Given the description of an element on the screen output the (x, y) to click on. 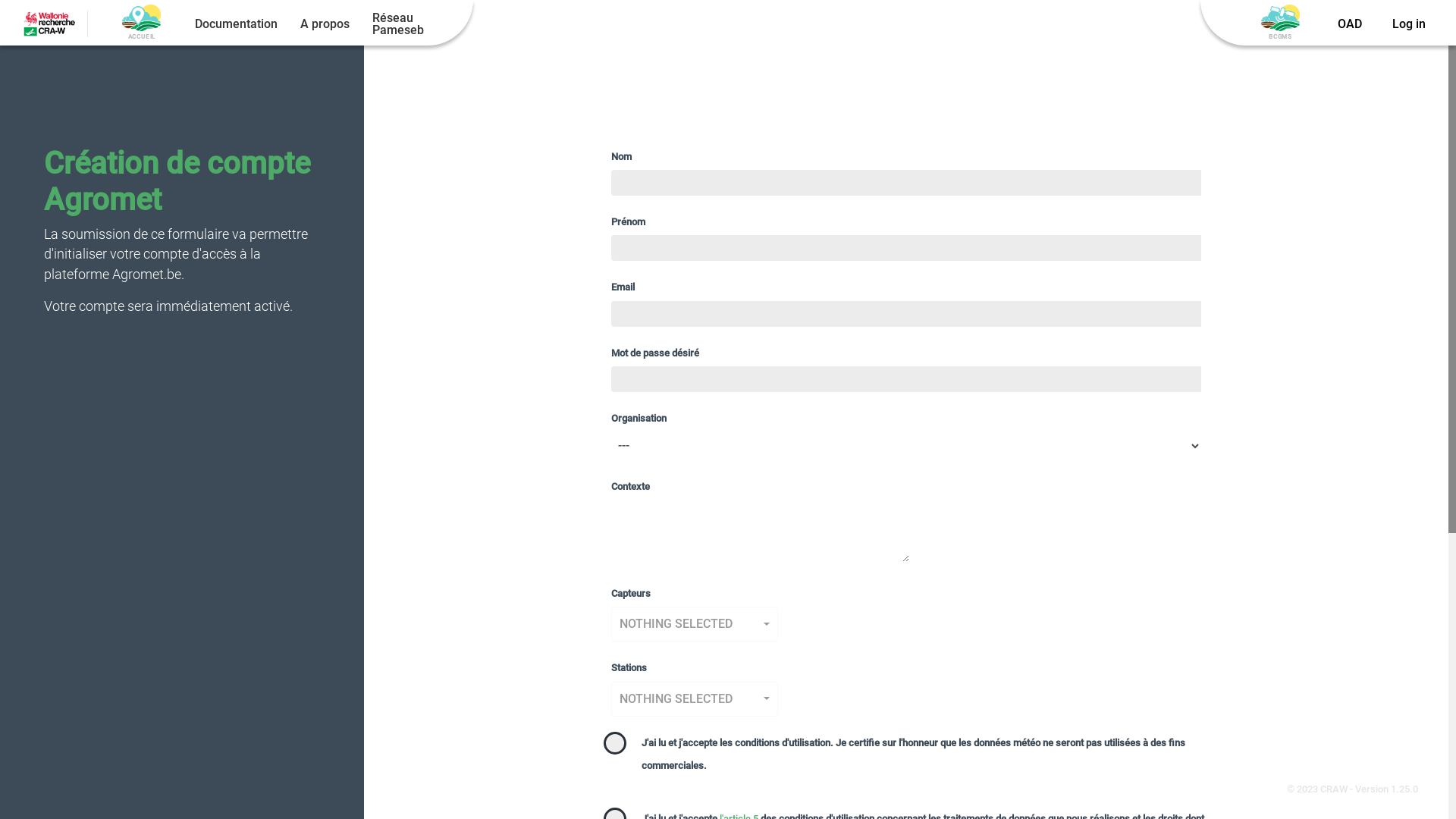
OAD Element type: text (1349, 23)
BCGMS Element type: text (1280, 23)
ACCUEIL Element type: text (141, 23)
NOTHING SELECTED Element type: text (694, 623)
NOTHING SELECTED Element type: text (694, 697)
Documentation Element type: text (235, 23)
A propos Element type: text (324, 23)
Log in Element type: text (1408, 23)
Accueil Element type: hover (141, 17)
B-CGMS Element type: hover (1280, 17)
